Given the description of an element on the screen output the (x, y) to click on. 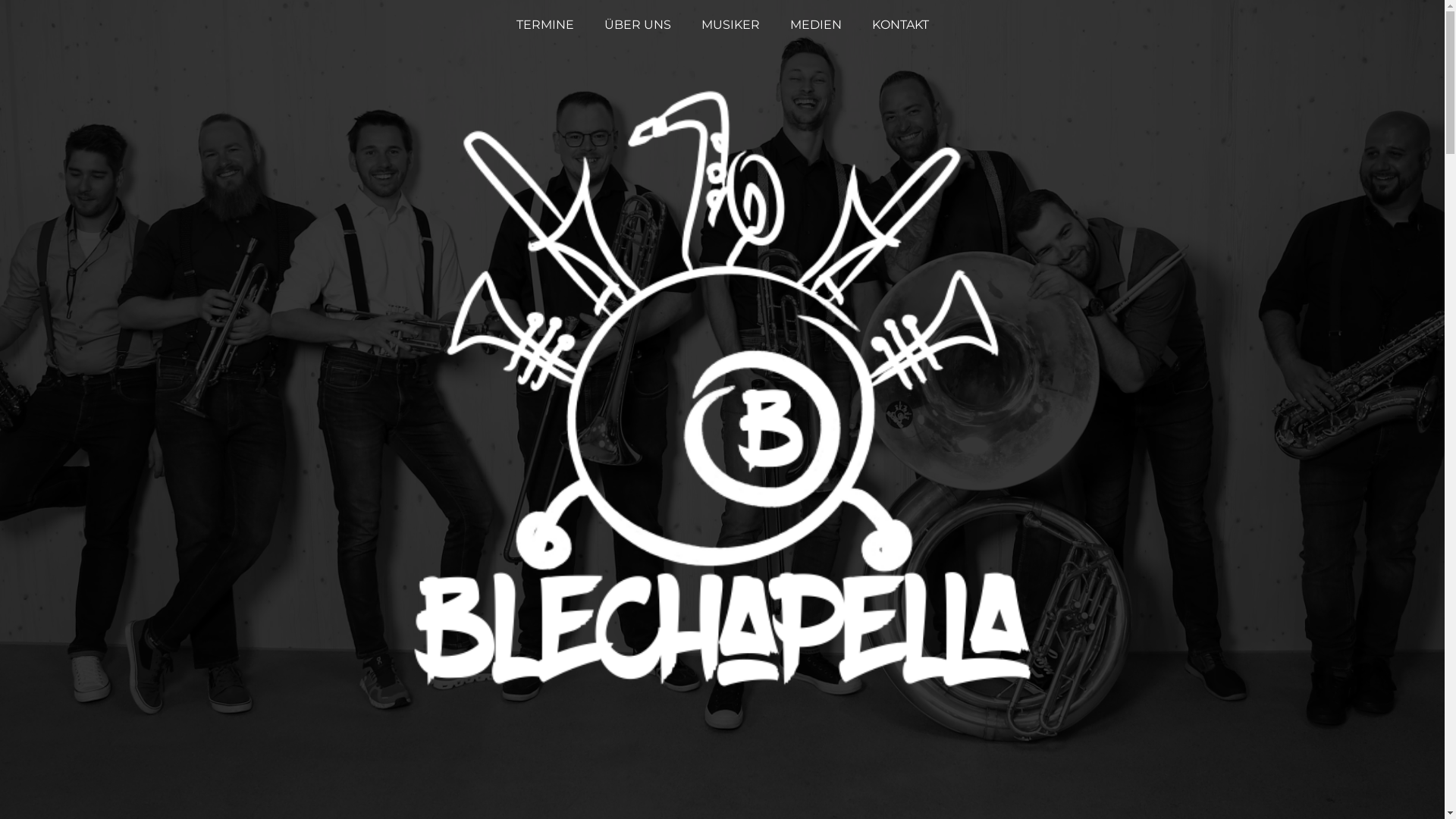
MEDIEN Element type: text (815, 24)
MUSIKER Element type: text (729, 24)
TERMINE Element type: text (544, 24)
KONTAKT Element type: text (900, 24)
